Given the description of an element on the screen output the (x, y) to click on. 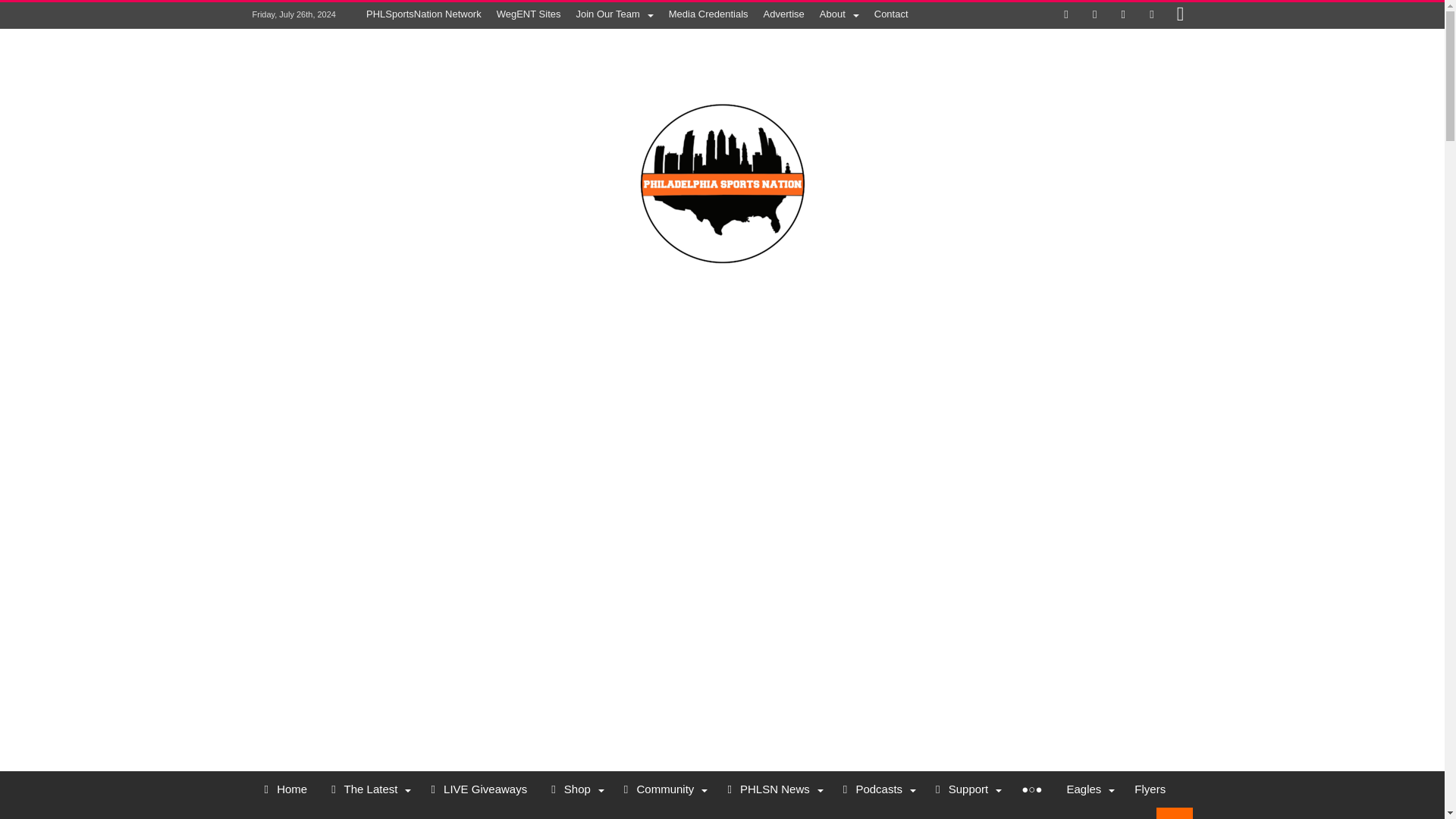
LinkedIn (1122, 15)
Twitter (1094, 15)
instagram (1179, 15)
Facebook (1066, 15)
Youtube (1151, 15)
